Given the description of an element on the screen output the (x, y) to click on. 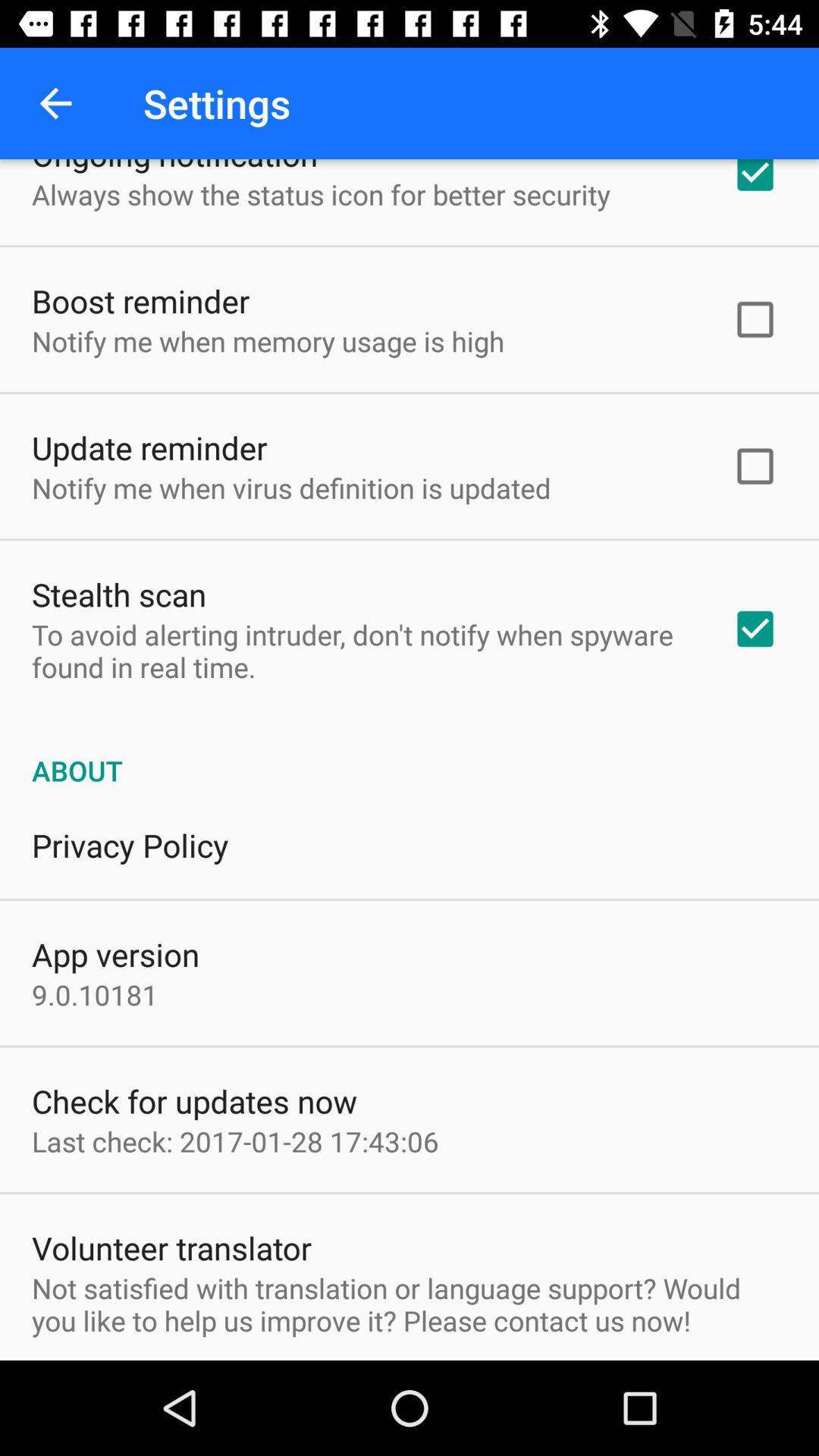
press update reminder icon (149, 447)
